Given the description of an element on the screen output the (x, y) to click on. 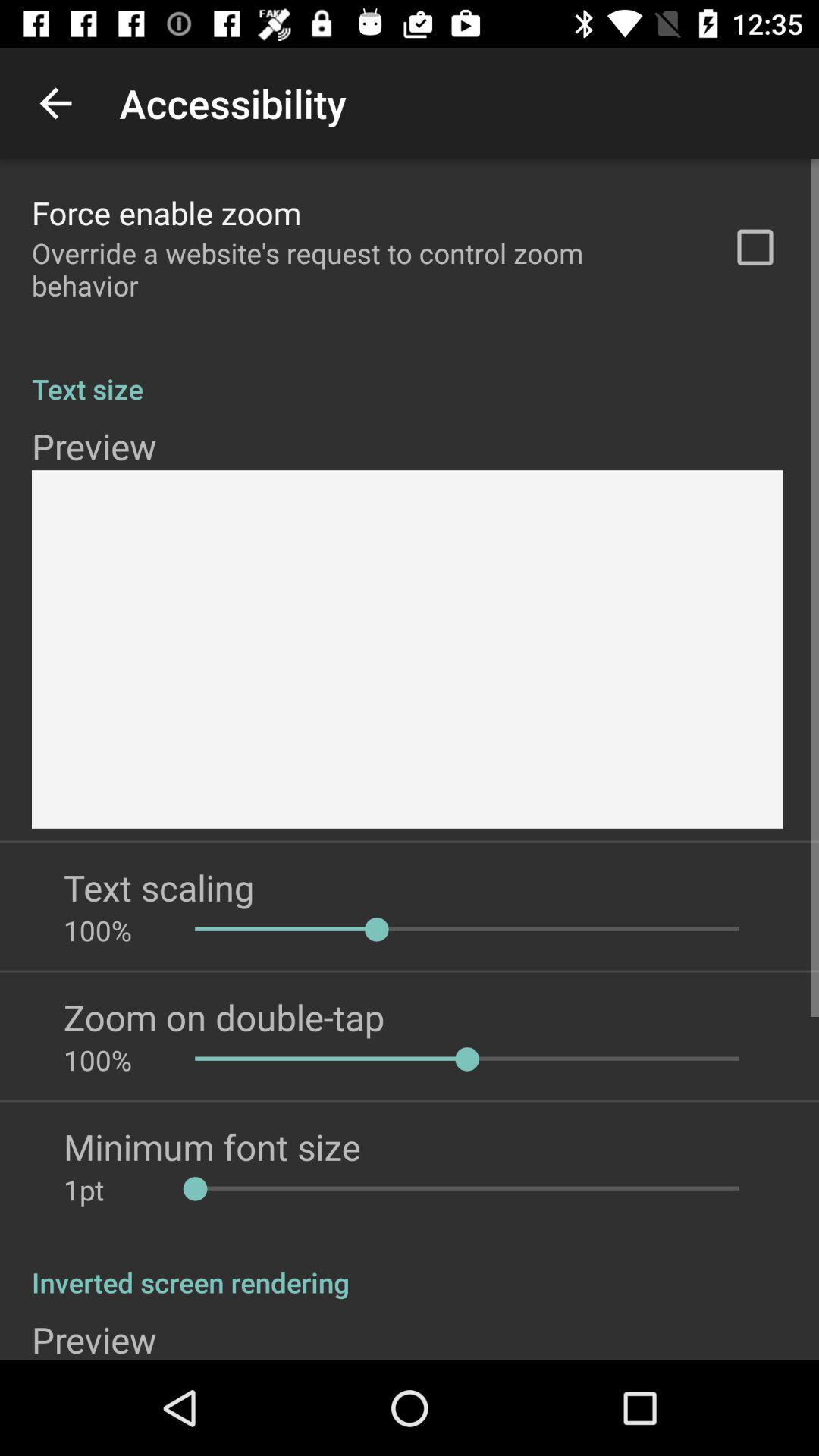
open inverted screen rendering icon (409, 1266)
